Given the description of an element on the screen output the (x, y) to click on. 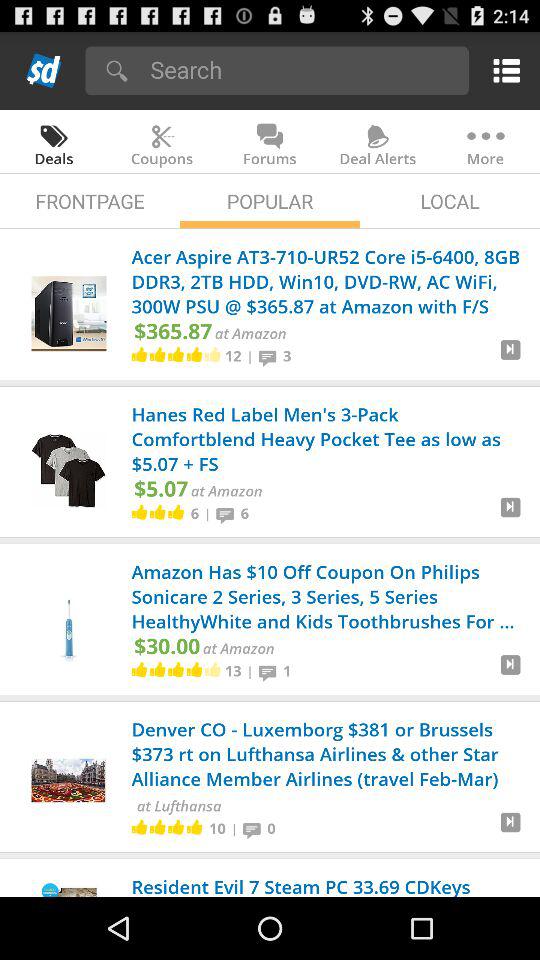
turn on the local (450, 200)
